Given the description of an element on the screen output the (x, y) to click on. 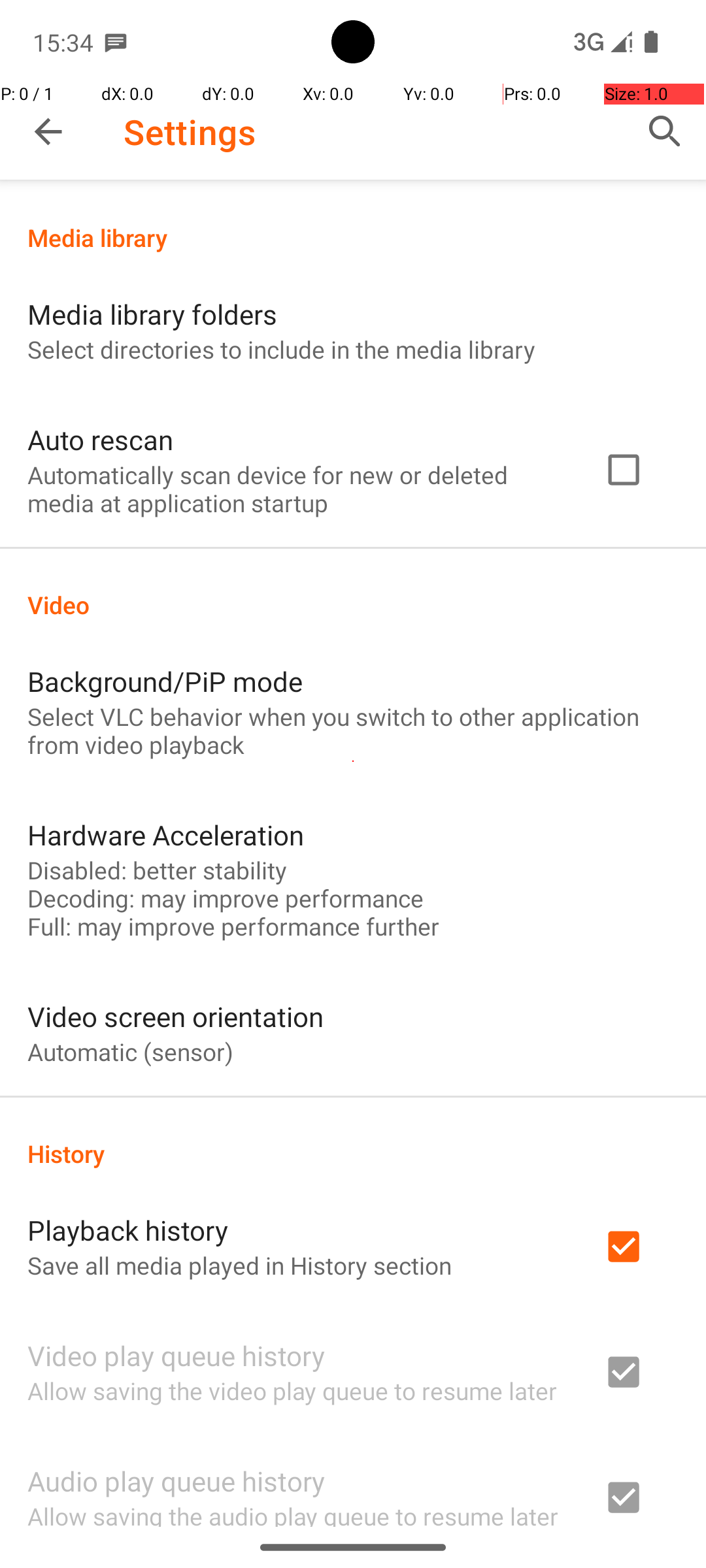
Media library Element type: android.widget.TextView (352, 237)
Media library folders Element type: android.widget.TextView (152, 313)
Select directories to include in the media library Element type: android.widget.TextView (281, 348)
Auto rescan Element type: android.widget.TextView (100, 438)
Automatically scan device for new or deleted media at application startup Element type: android.widget.TextView (297, 488)
Background/PiP mode Element type: android.widget.TextView (165, 680)
Select VLC behavior when you switch to other application from video playback Element type: android.widget.TextView (352, 730)
Hardware Acceleration Element type: android.widget.TextView (165, 834)
Disabled: better stability
Decoding: may improve performance
Full: may improve performance further Element type: android.widget.TextView (233, 897)
Video screen orientation Element type: android.widget.TextView (175, 1015)
Automatic (sensor) Element type: android.widget.TextView (130, 1051)
Playback history Element type: android.widget.TextView (127, 1229)
Save all media played in History section Element type: android.widget.TextView (239, 1264)
Video play queue history Element type: android.widget.TextView (175, 1354)
Allow saving the video play queue to resume later Element type: android.widget.TextView (291, 1390)
Audio play queue history Element type: android.widget.TextView (176, 1480)
Allow saving the audio play queue to resume later Element type: android.widget.TextView (292, 1512)
